Given the description of an element on the screen output the (x, y) to click on. 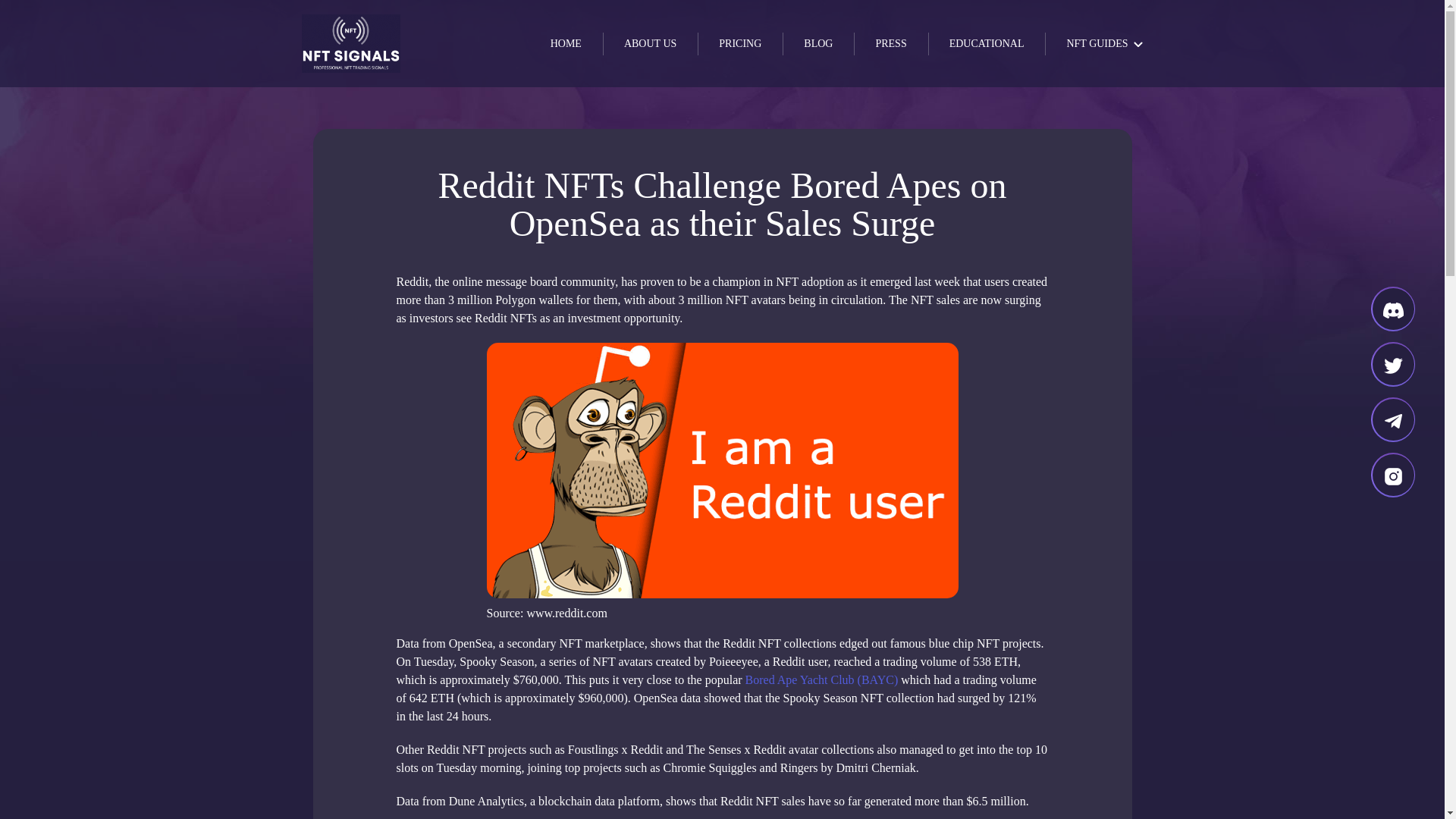
PRICING (740, 43)
NFT GUIDES (1093, 43)
EDUCATIONAL (986, 43)
ABOUT US (649, 43)
HOME (565, 43)
PRESS (890, 43)
BLOG (818, 43)
